Given the description of an element on the screen output the (x, y) to click on. 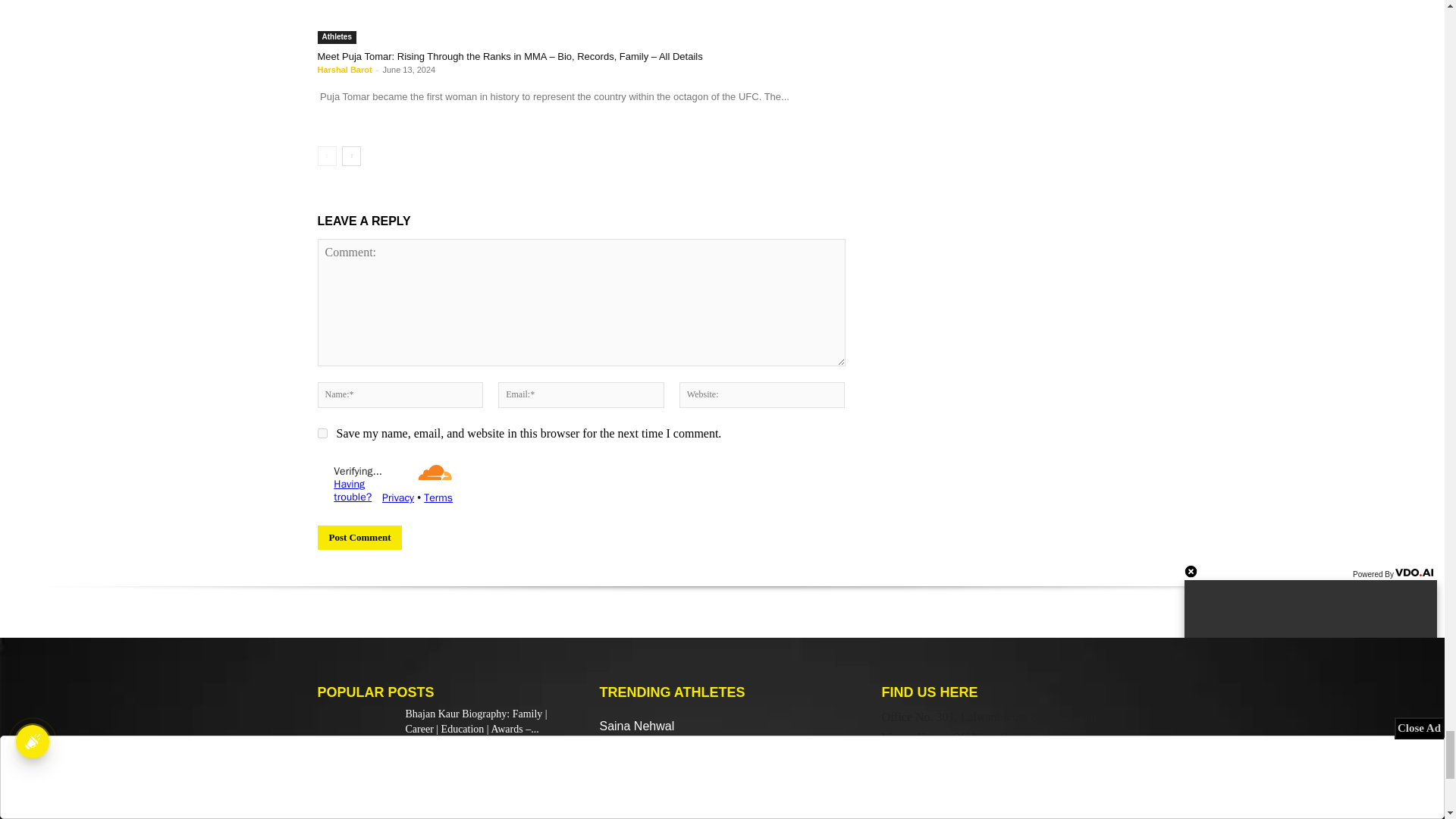
yes (321, 433)
Post Comment (359, 537)
